Given the description of an element on the screen output the (x, y) to click on. 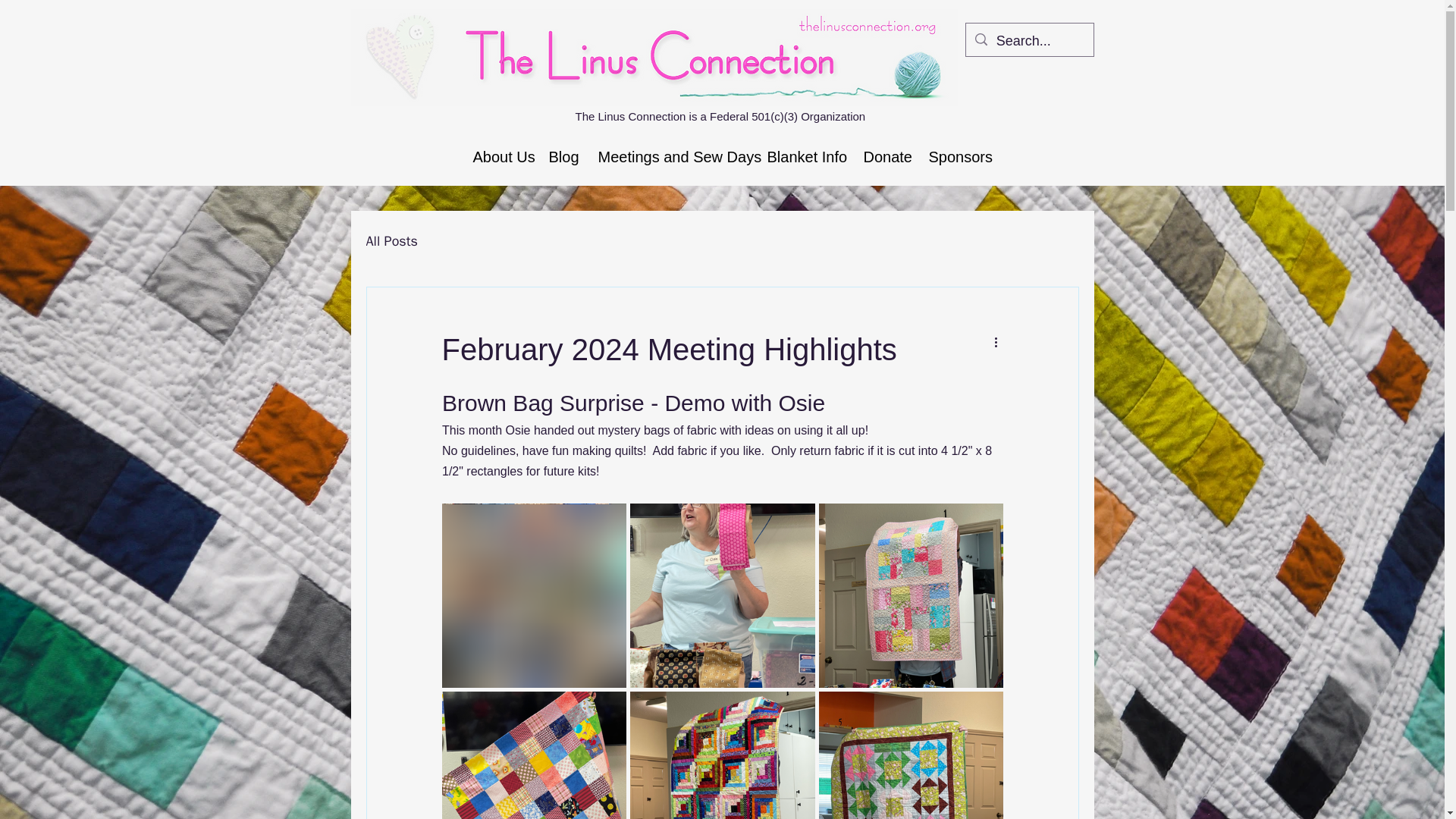
Blog (561, 156)
Blanket Info (803, 156)
About Us (499, 156)
Sponsors (957, 156)
All Posts (390, 240)
Meetings and Sew Days (670, 156)
Donate (884, 156)
